Given the description of an element on the screen output the (x, y) to click on. 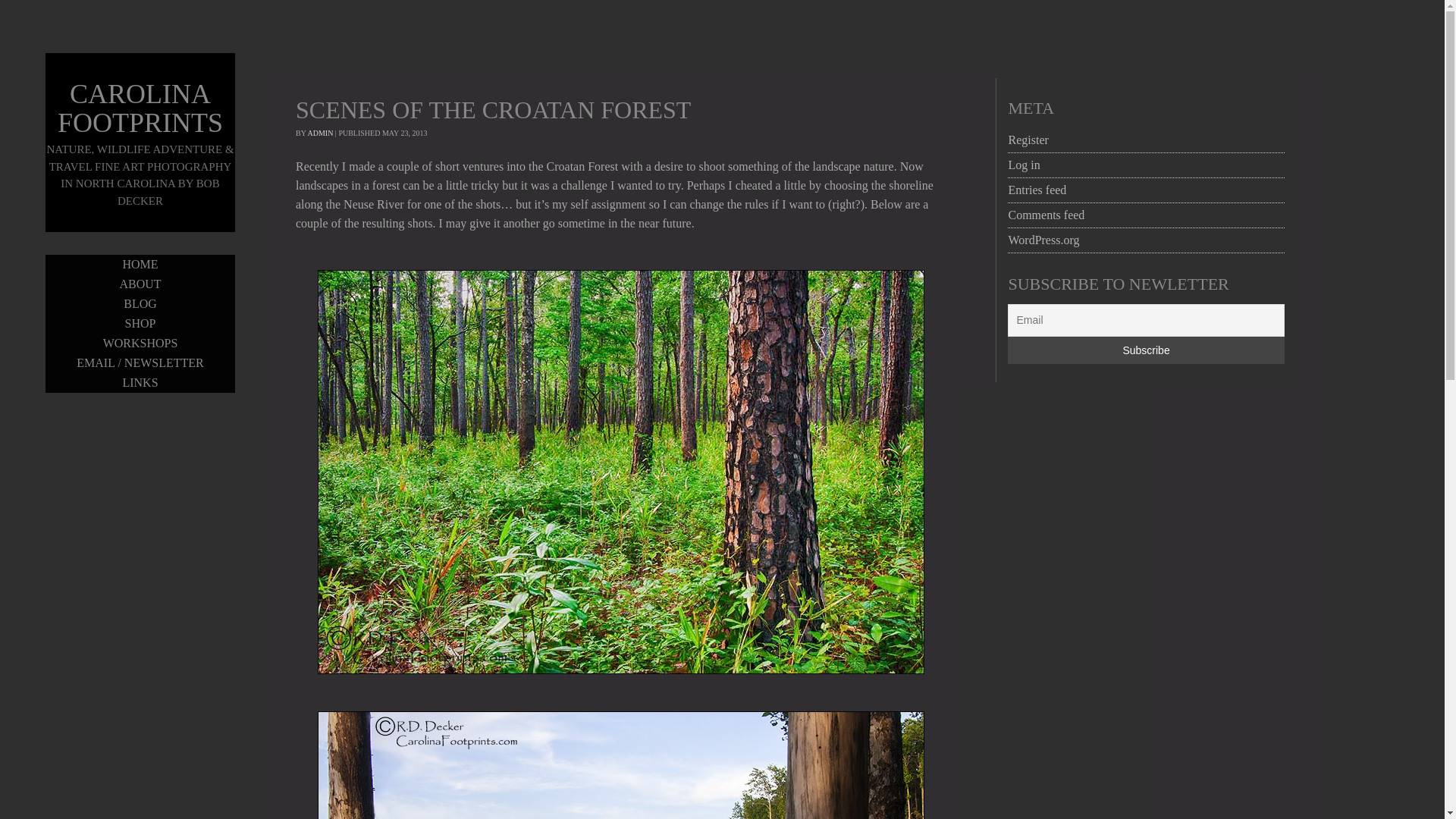
Register (1027, 139)
ABOUT (139, 284)
LINKS (139, 383)
Subscribe (1145, 349)
Subscribe (1145, 349)
Comments feed (1045, 214)
BLOG (139, 303)
View all posts by admin (320, 132)
Log in (1023, 164)
WORKSHOPS (139, 342)
